Given the description of an element on the screen output the (x, y) to click on. 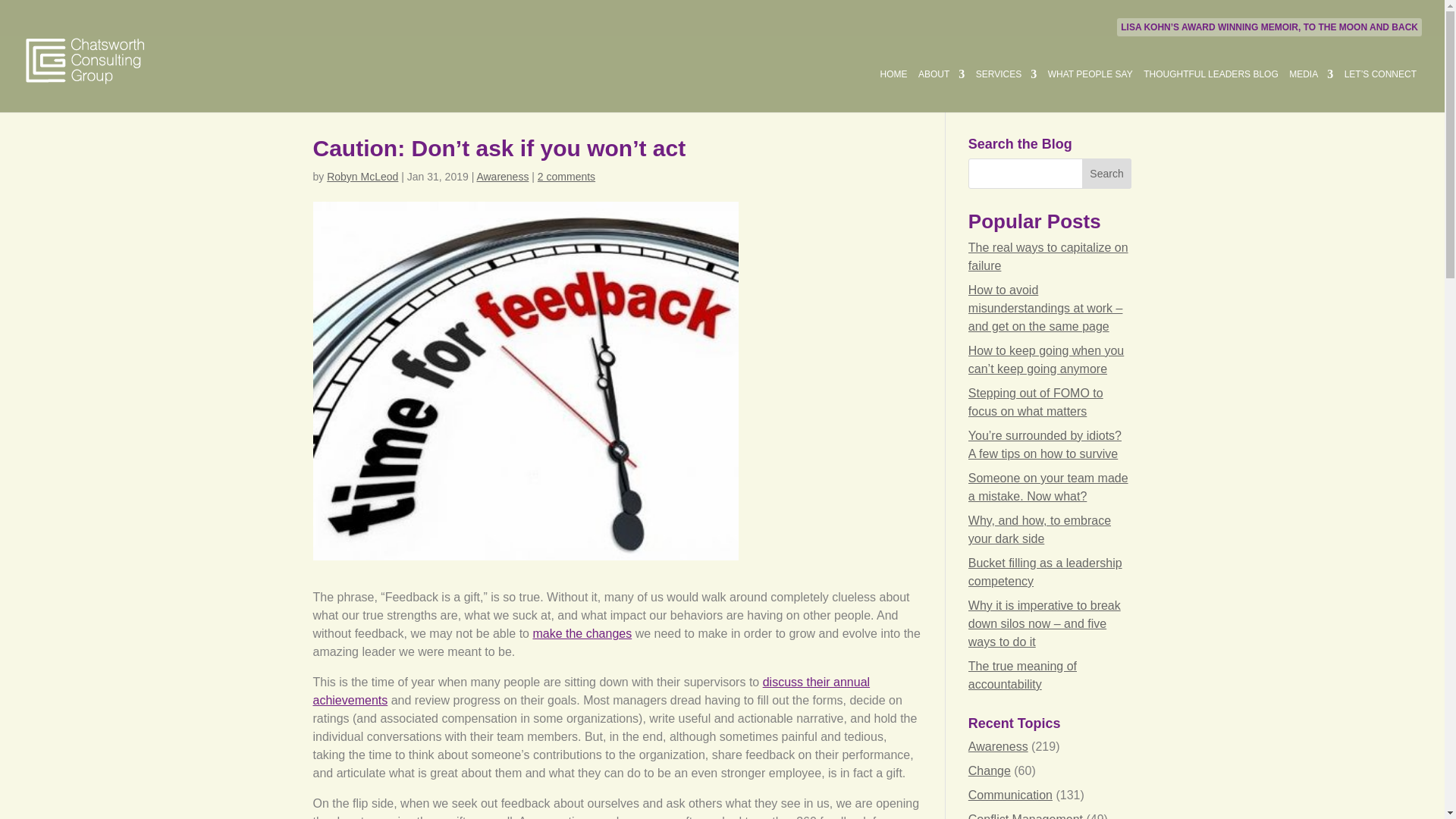
MEDIA (1310, 90)
2 comments (566, 176)
THOUGHTFUL LEADERS BLOG (1210, 90)
WHAT PEOPLE SAY (1090, 90)
make the changes (581, 633)
ABOUT (940, 90)
Robyn McLeod (361, 176)
Awareness (502, 176)
Search (1106, 173)
SERVICES (1005, 90)
discuss their annual achievements (591, 690)
Posts by Robyn McLeod (361, 176)
